Given the description of an element on the screen output the (x, y) to click on. 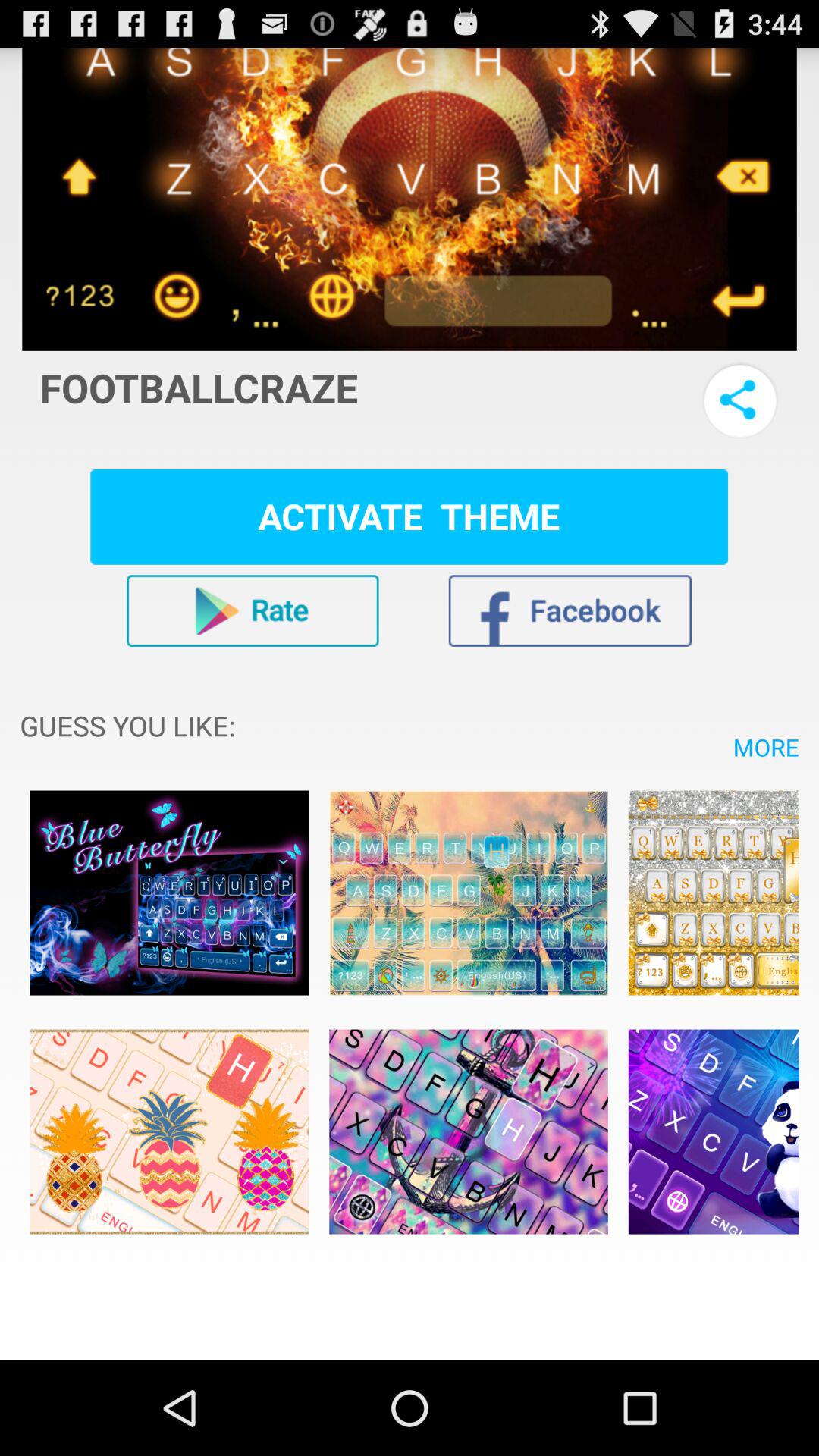
go to keyboard typing option (713, 1131)
